Given the description of an element on the screen output the (x, y) to click on. 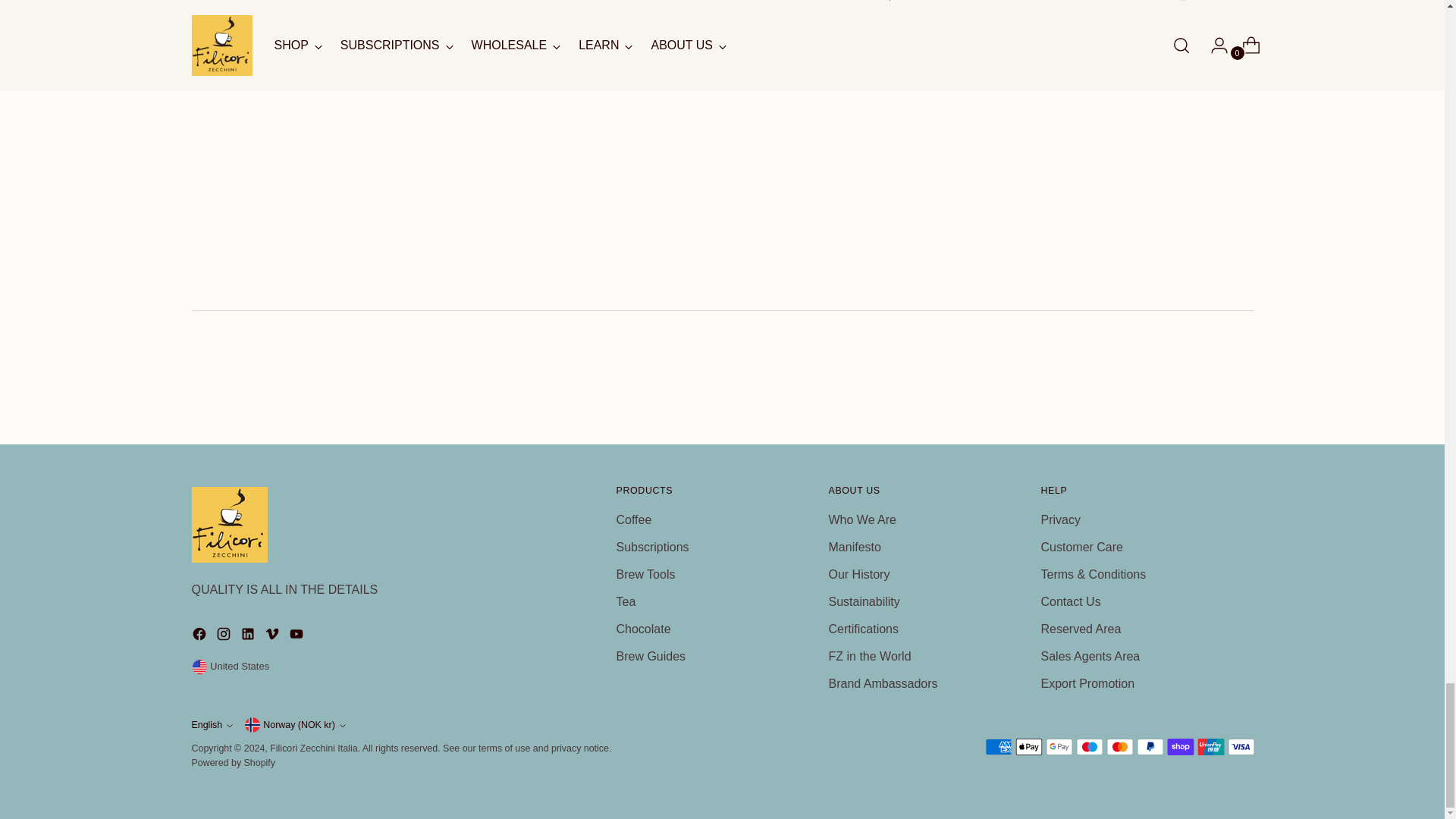
Filicori Zecchini Italia on Vimeo (272, 636)
Filicori Zecchini Italia on Instagram (223, 636)
